Given the description of an element on the screen output the (x, y) to click on. 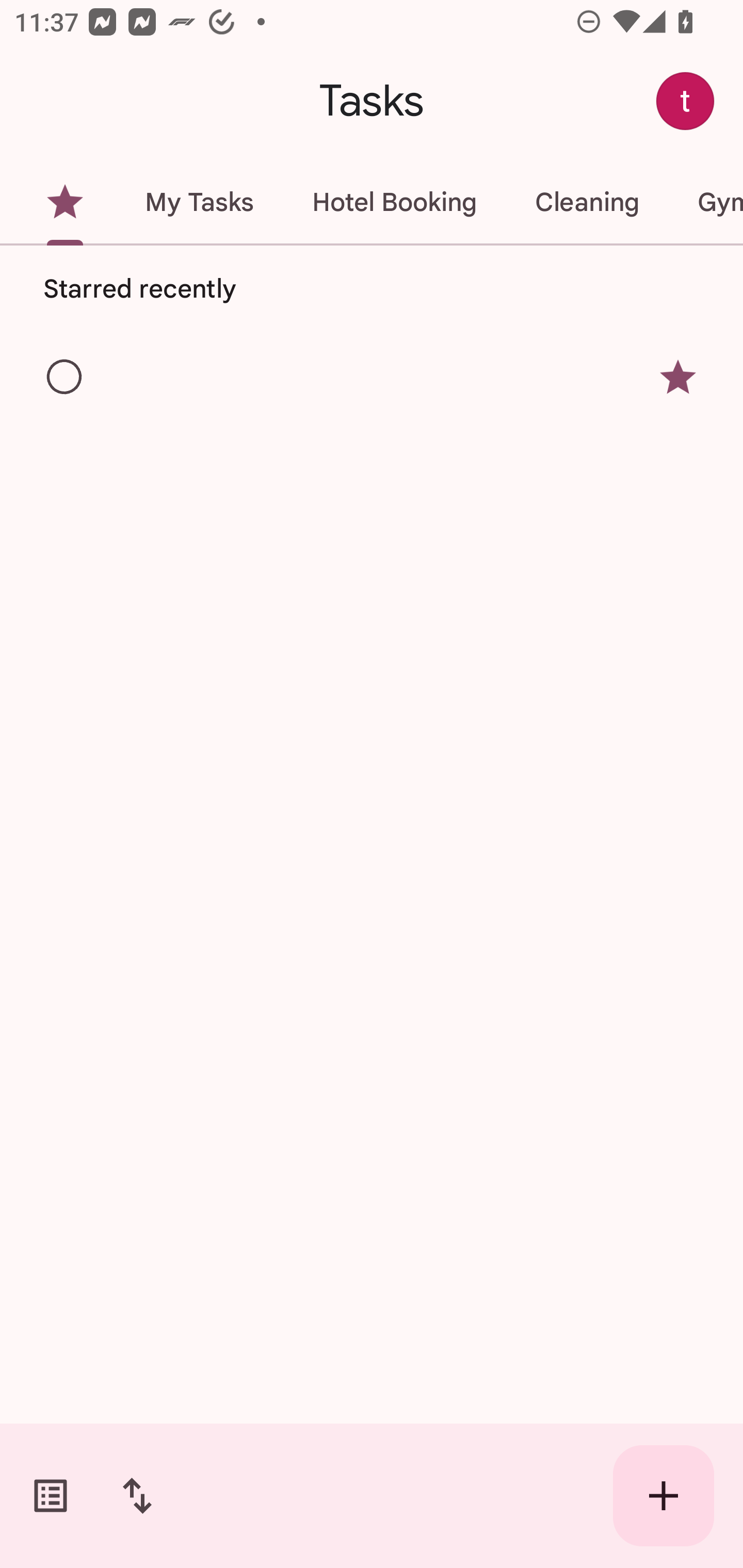
My Tasks (199, 202)
Hotel Booking (394, 202)
Cleaning (586, 202)
Remove star (677, 376)
Mark as complete (64, 377)
Switch task lists (50, 1495)
Create new task (663, 1495)
Change sort order (136, 1495)
